Given the description of an element on the screen output the (x, y) to click on. 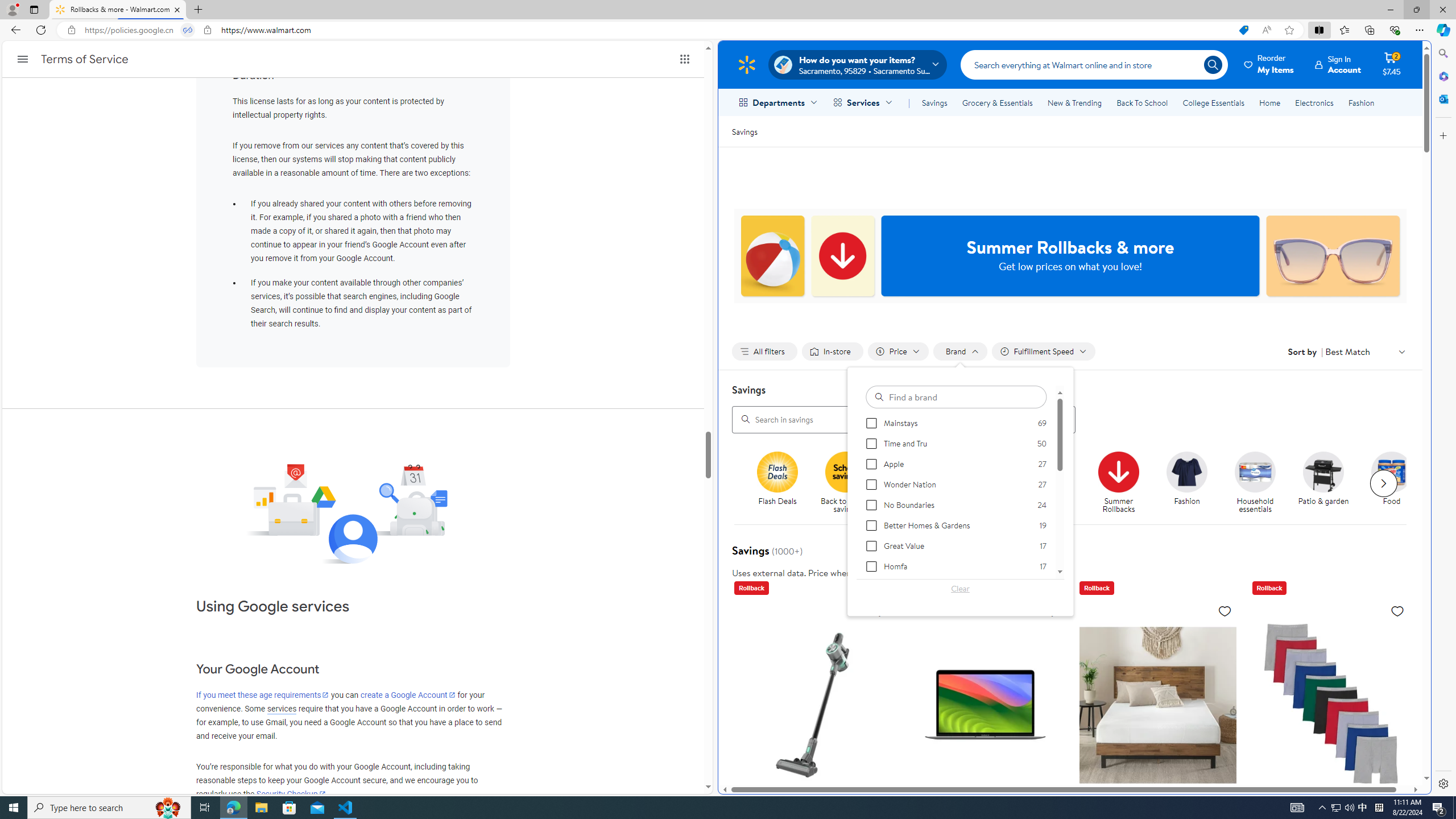
Get it today Get it today (1050, 478)
$20 & under (986, 483)
Tabs in split screen (187, 29)
Grocery & Essentials (997, 102)
This site has coupons! Shopping in Microsoft Edge, 7 (1243, 29)
Flash deals (777, 471)
Filter by Fulfillment Speed not applied, activate to change (1043, 351)
